Given the description of an element on the screen output the (x, y) to click on. 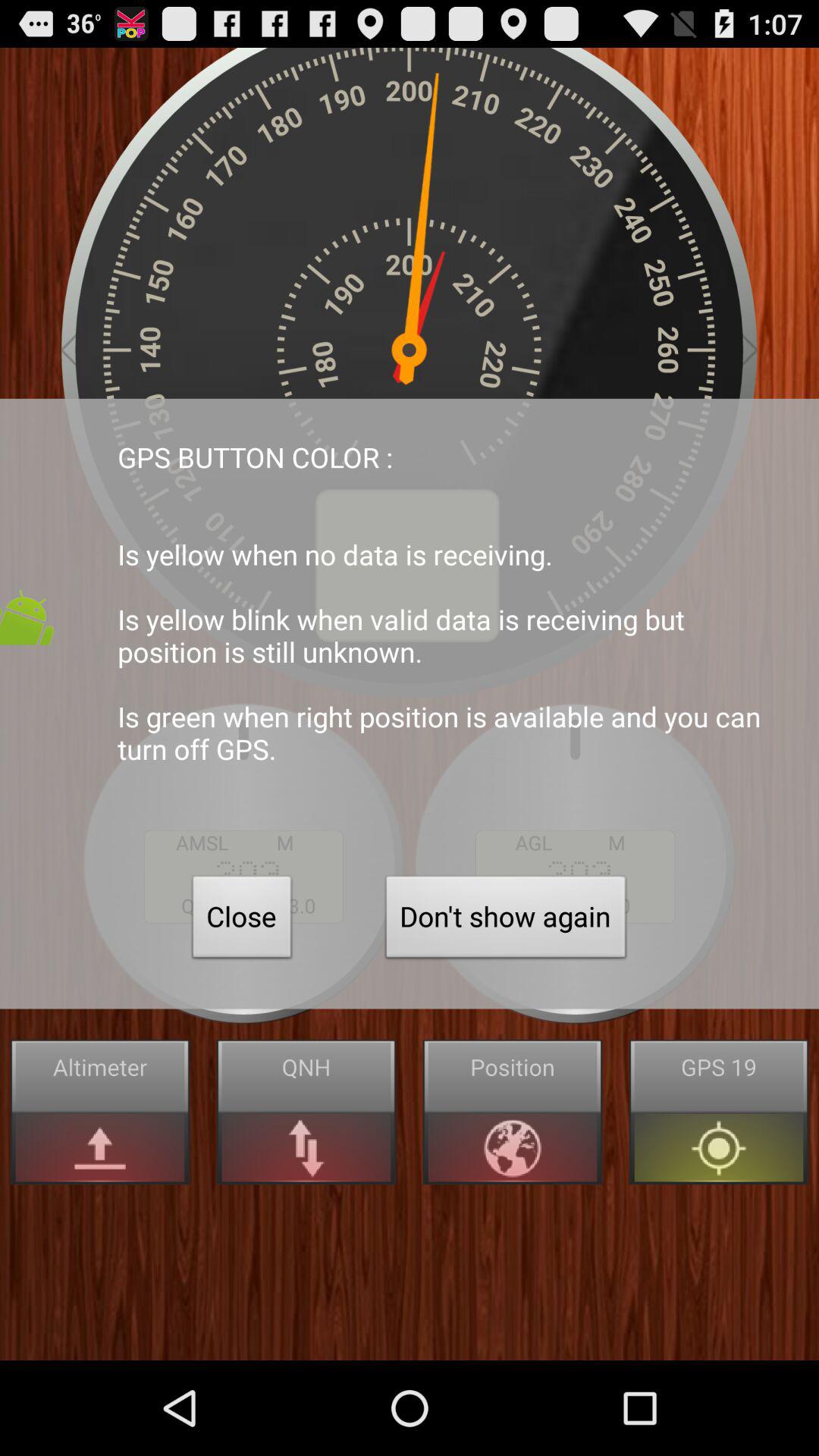
turn off icon below gps button color (242, 921)
